Given the description of an element on the screen output the (x, y) to click on. 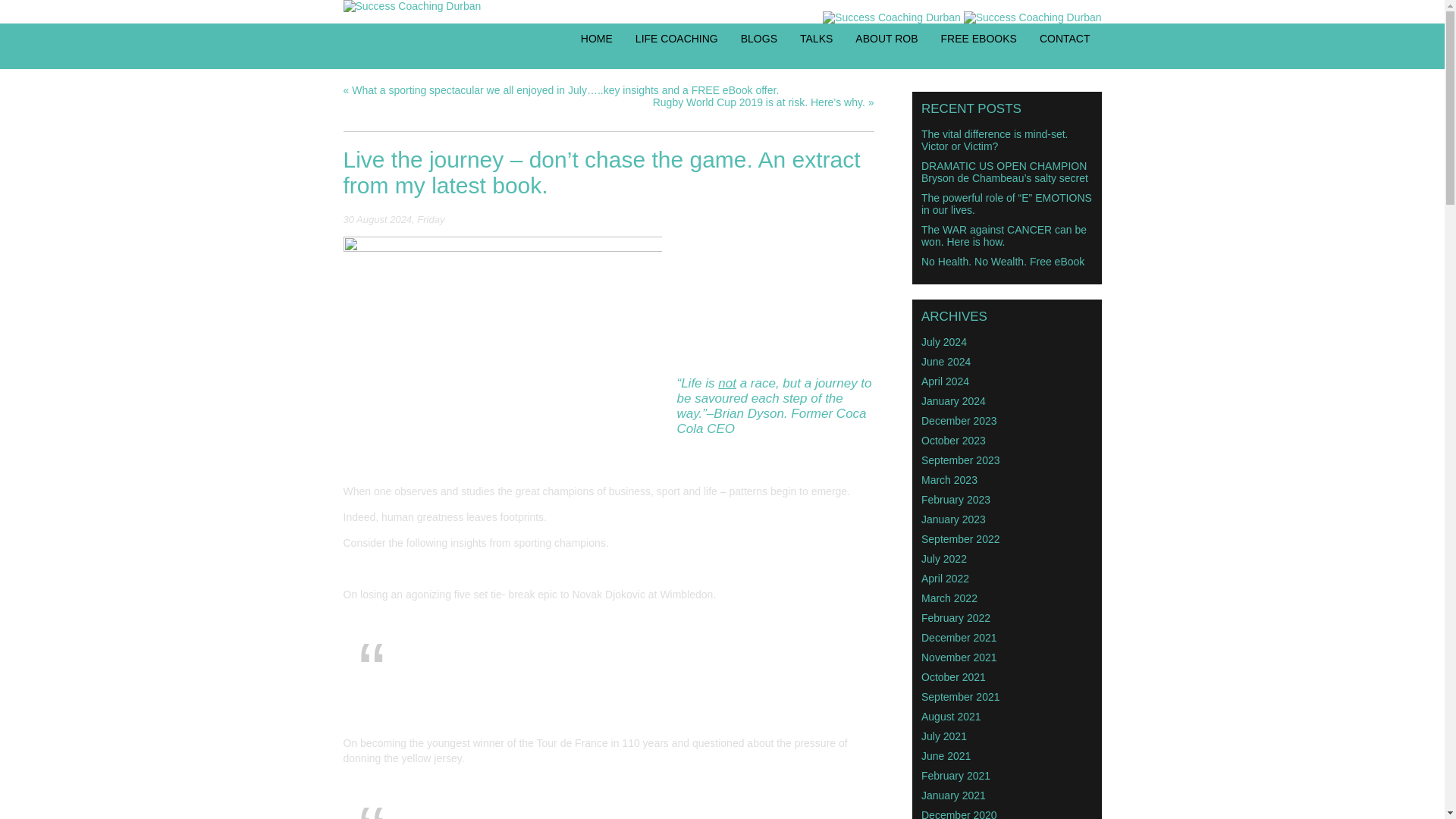
April 2024 (945, 380)
HOME (596, 38)
ABOUT ROB (886, 38)
LIFE COACHING (675, 38)
October 2023 (953, 439)
No Health. No Wealth. Free eBook (1002, 260)
The WAR against CANCER can be won. Here is how. (1003, 234)
TALKS (815, 38)
BLOGS (759, 38)
CONTACT (1064, 38)
